Given the description of an element on the screen output the (x, y) to click on. 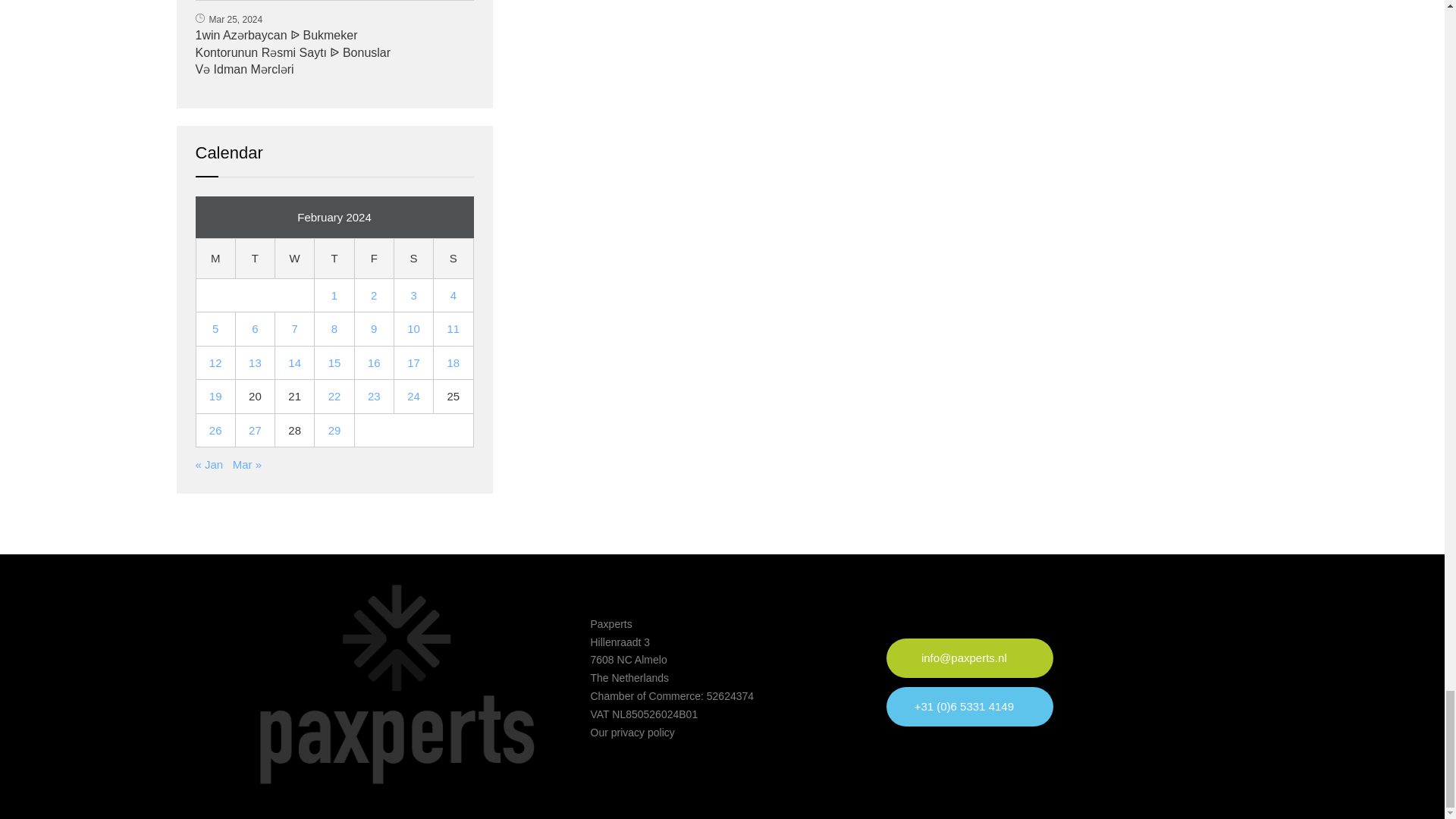
Wednesday (294, 259)
Tuesday (254, 259)
Friday (373, 259)
Saturday (412, 259)
Monday (214, 259)
Thursday (333, 259)
Sunday (453, 259)
